Given the description of an element on the screen output the (x, y) to click on. 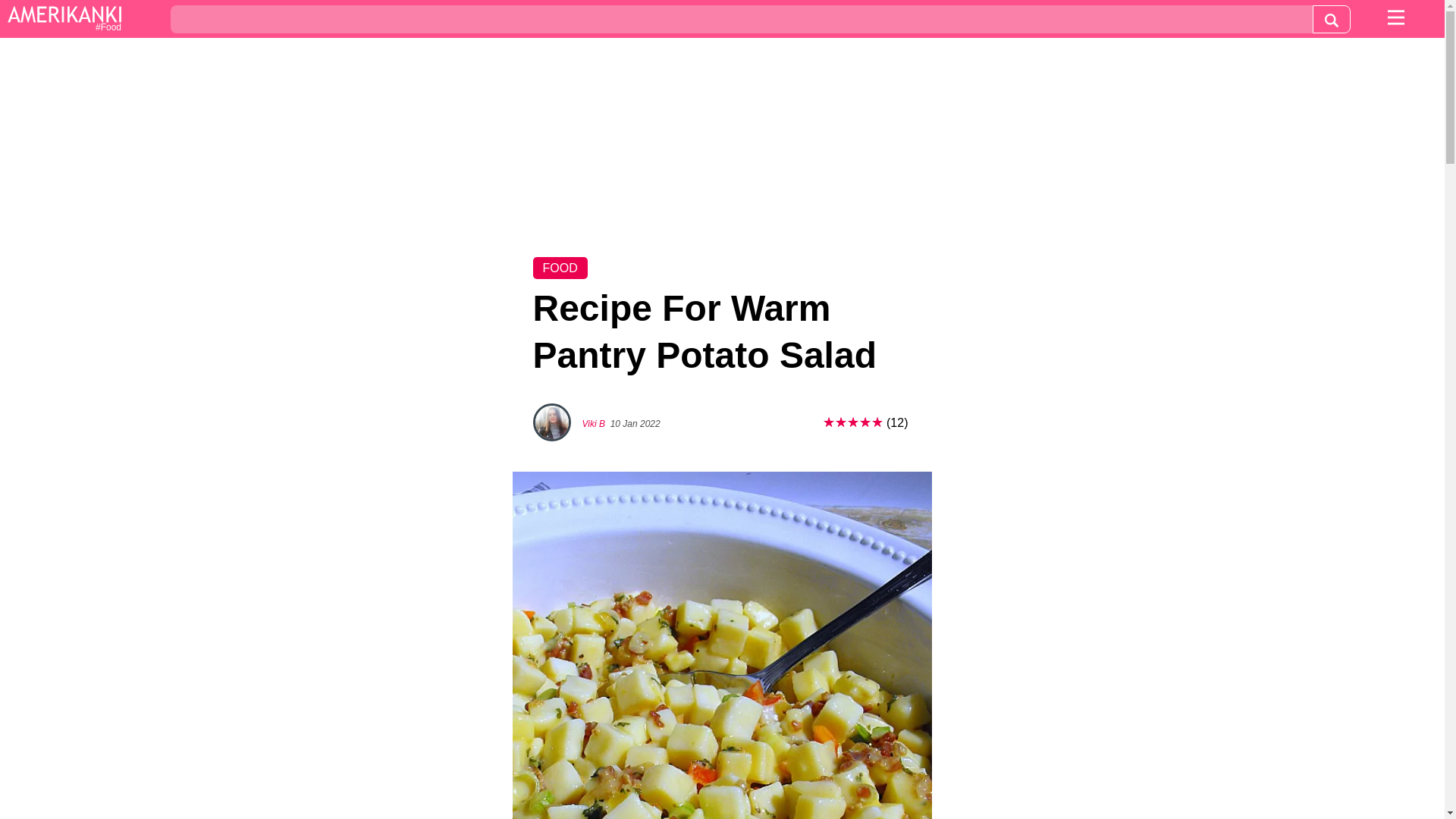
Viki B (593, 423)
Food Amerikanki (63, 19)
Food (63, 19)
FOOD (559, 268)
